Given the description of an element on the screen output the (x, y) to click on. 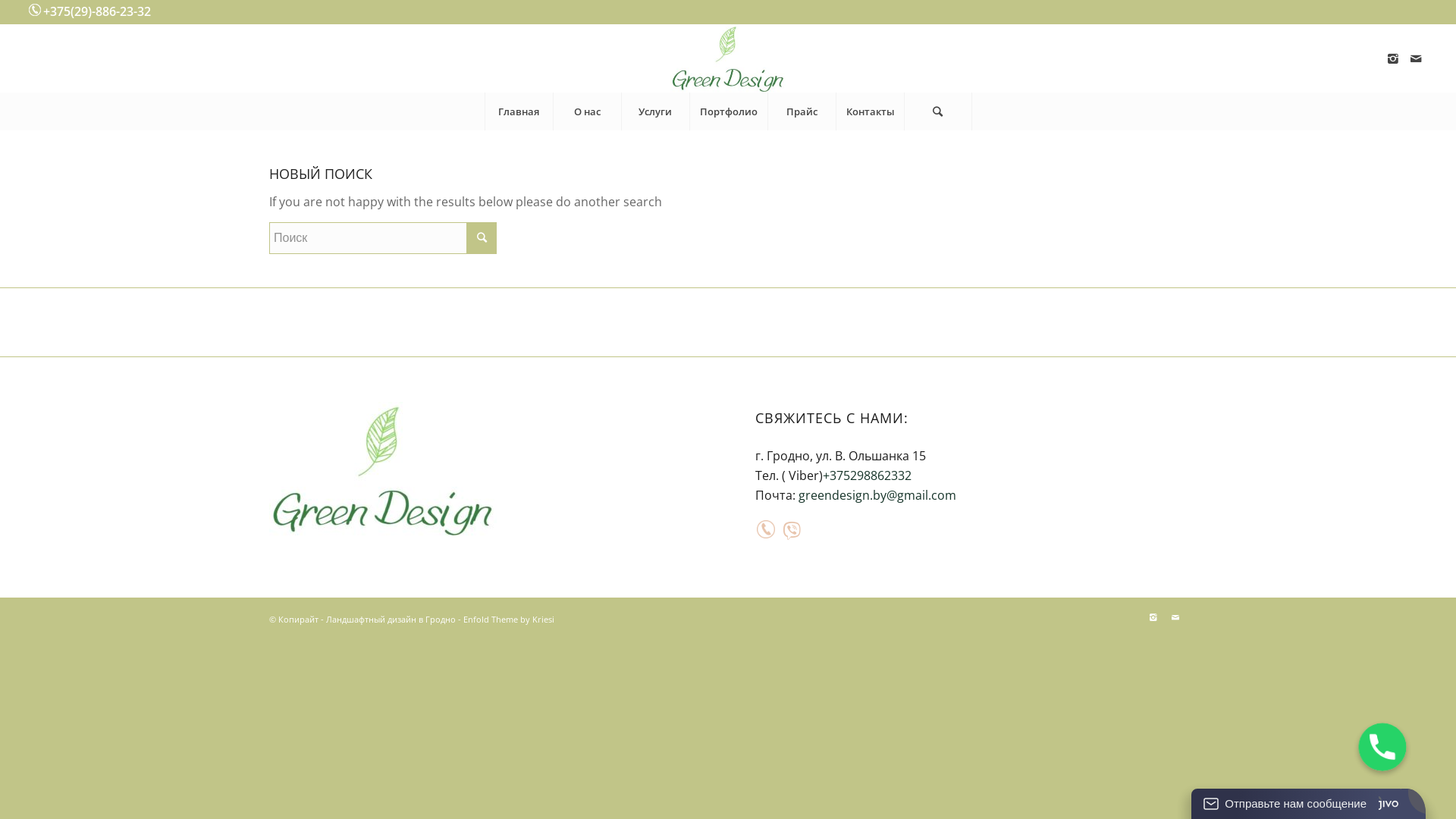
greendesign.by@gmail.com Element type: text (877, 494)
tel Element type: hover (765, 529)
+375298862332 Element type: text (866, 475)
Mail Element type: hover (1415, 58)
Enfold Theme by Kriesi Element type: text (508, 618)
Instagram Element type: hover (1392, 58)
Mail Element type: hover (1175, 616)
Viber Element type: hover (791, 530)
tel Element type: hover (765, 535)
Viber Element type: hover (791, 530)
+375(29)-886-23-32 Element type: text (96, 11)
Instagram Element type: hover (1152, 616)
